Given the description of an element on the screen output the (x, y) to click on. 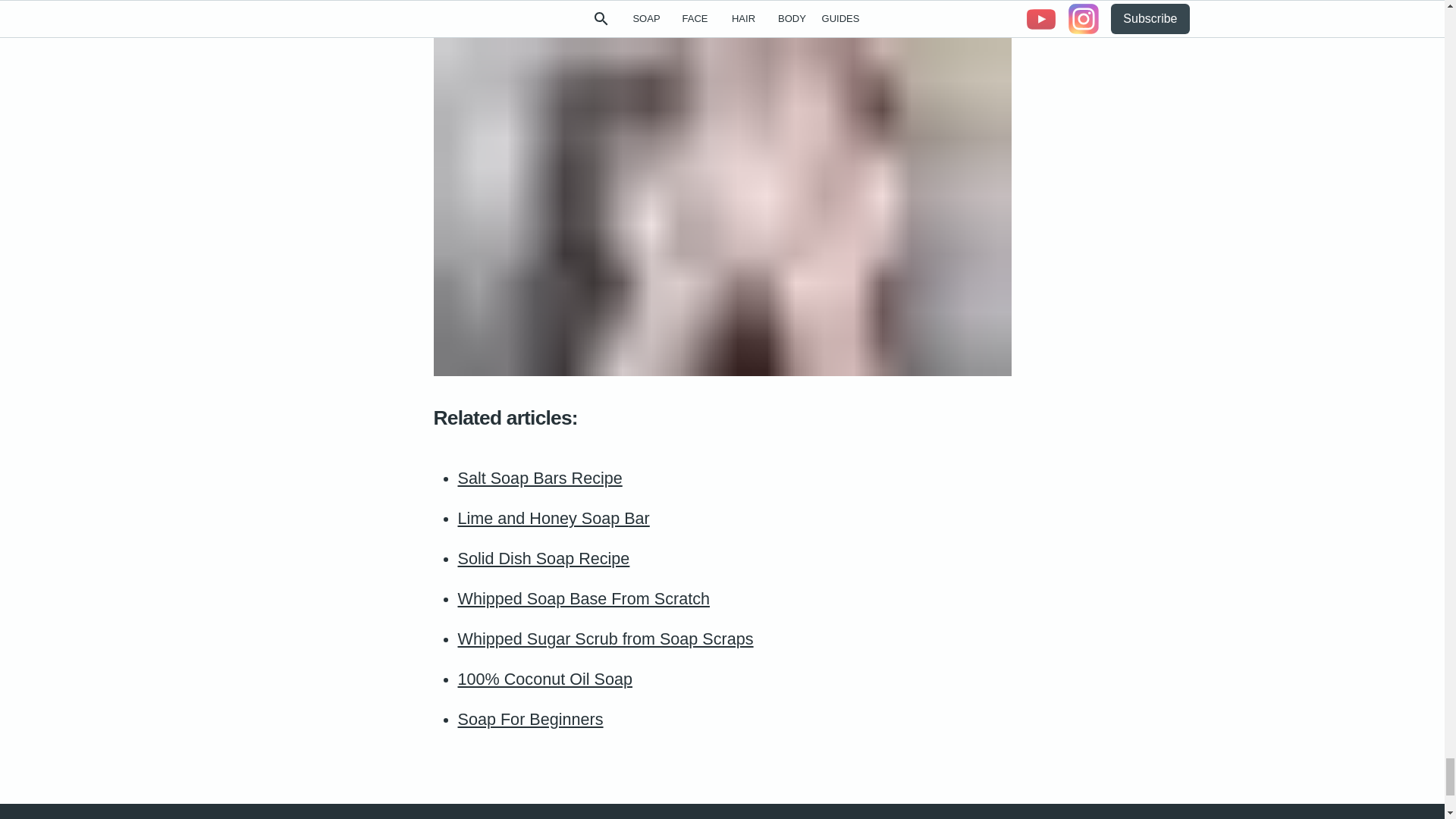
Salt Soap Bars Recipe (540, 477)
Whipped Soap Base From Scratch (584, 598)
Whipped Sugar Scrub from Soap Scraps (606, 638)
Soap For Beginners (531, 719)
Lime and Honey Soap Bar (553, 517)
Solid Dish Soap Recipe (544, 558)
